Given the description of an element on the screen output the (x, y) to click on. 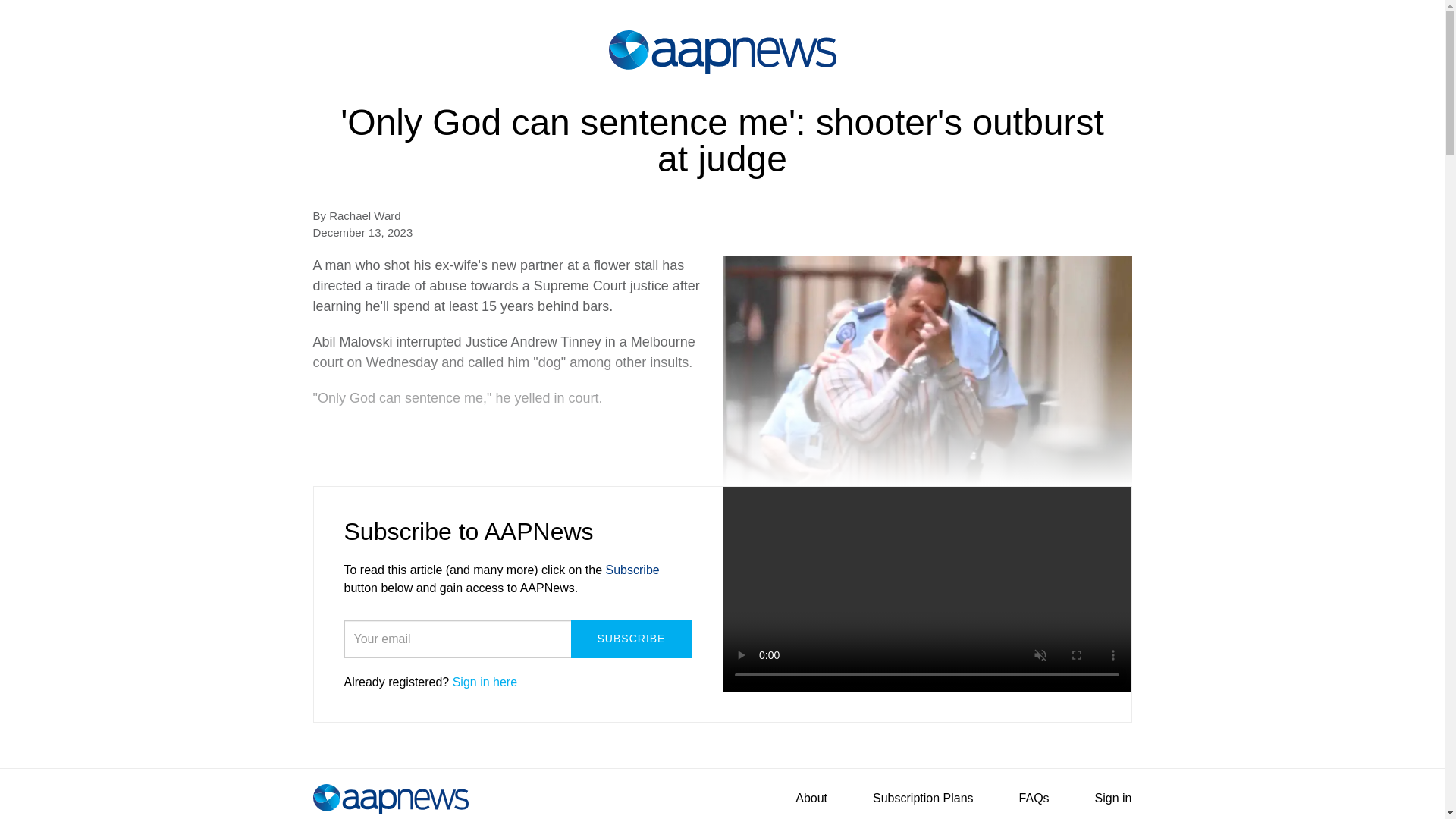
Sign in here (484, 681)
FAQs (1034, 797)
Subscription Plans (922, 797)
Sign in (1113, 797)
SUBSCRIBE (630, 638)
About (811, 797)
